Given the description of an element on the screen output the (x, y) to click on. 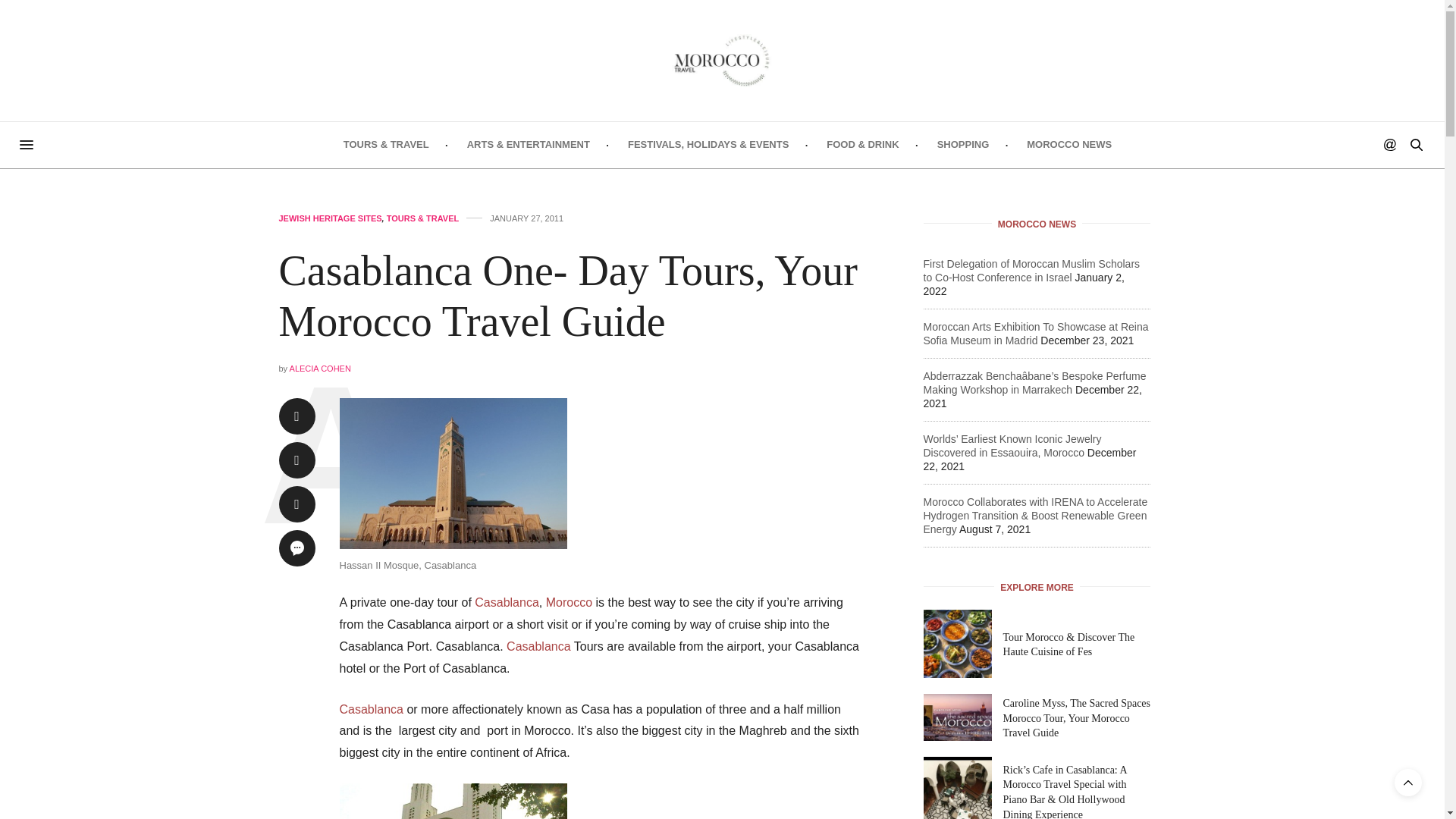
ALECIA COHEN (319, 368)
Casablanca (371, 708)
Casablanca (506, 602)
Morocco Travel Blog (722, 60)
Hassan-II-Mosque (453, 473)
SHOPPING (963, 144)
Casablanca (538, 645)
Morocco (569, 602)
Saint-Catherine- Cathedral -Casablanca (453, 800)
Posts by Alecia Cohen (319, 368)
JEWISH HERITAGE SITES (330, 218)
MOROCCO NEWS (1069, 144)
